Given the description of an element on the screen output the (x, y) to click on. 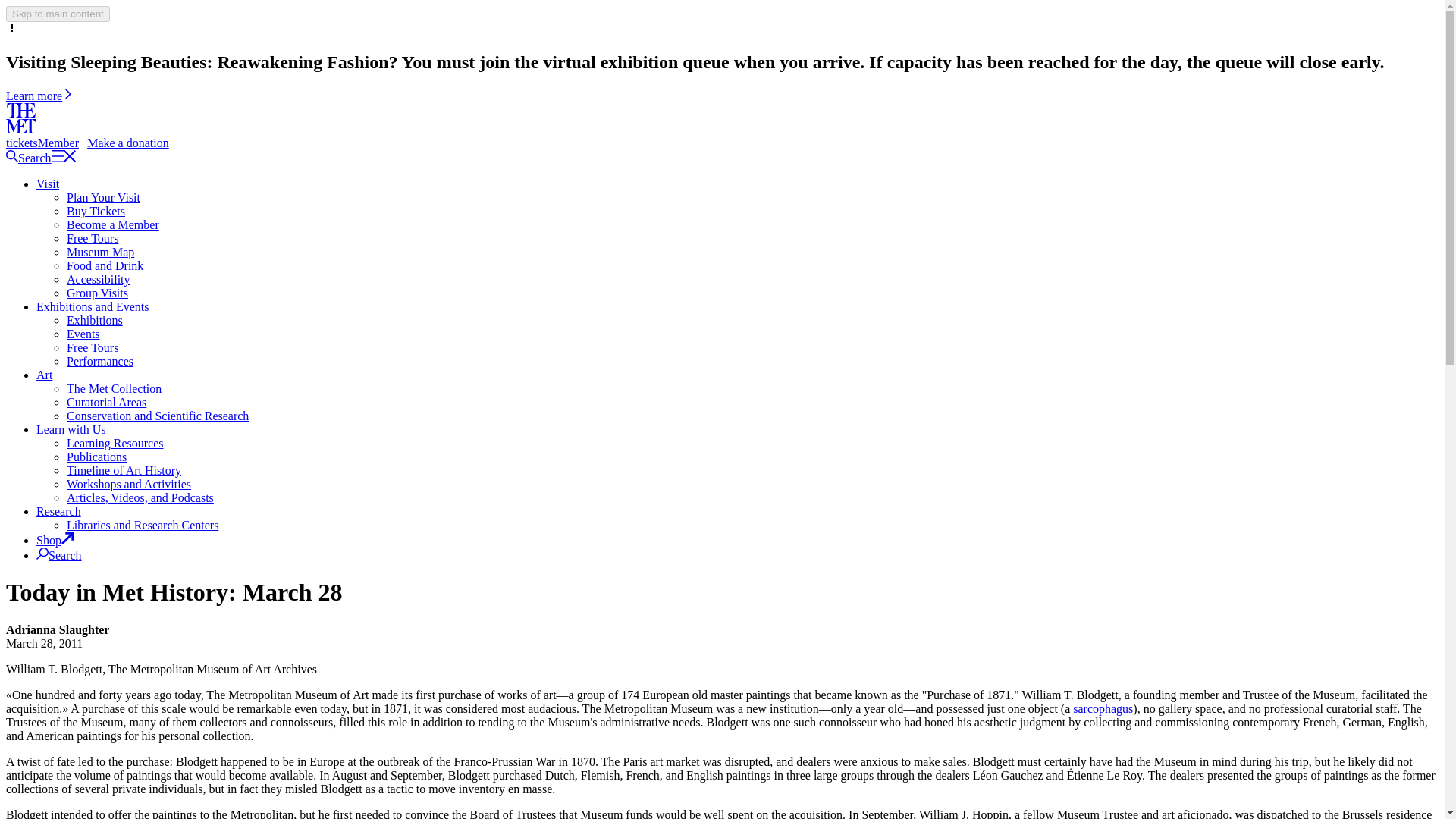
Workshops and Activities (128, 483)
Homepage (20, 128)
Learn with Us (71, 429)
Libraries and Research Centers (142, 524)
Toggle Menu (62, 157)
Articles, Videos, and Podcasts (140, 497)
Make a donation (127, 142)
Group Visits (97, 292)
Accessibility (98, 278)
The Met Collection (113, 388)
Curatorial Areas (106, 401)
Conservation and Scientific Research (157, 415)
Timeline of Art History (123, 470)
Performances (99, 360)
Art (44, 374)
